Given the description of an element on the screen output the (x, y) to click on. 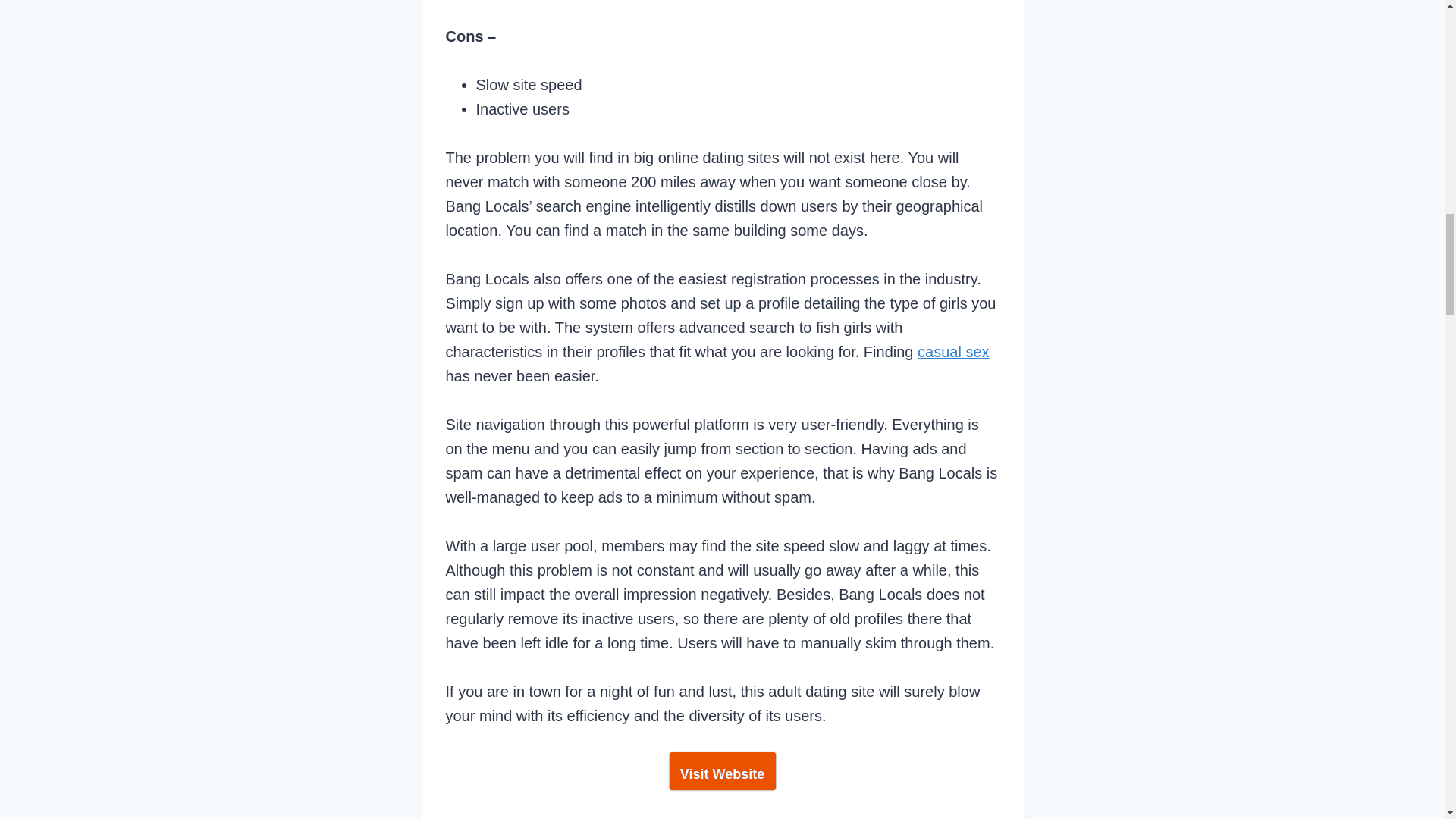
Visit Website (721, 771)
casual sex (953, 351)
